Given the description of an element on the screen output the (x, y) to click on. 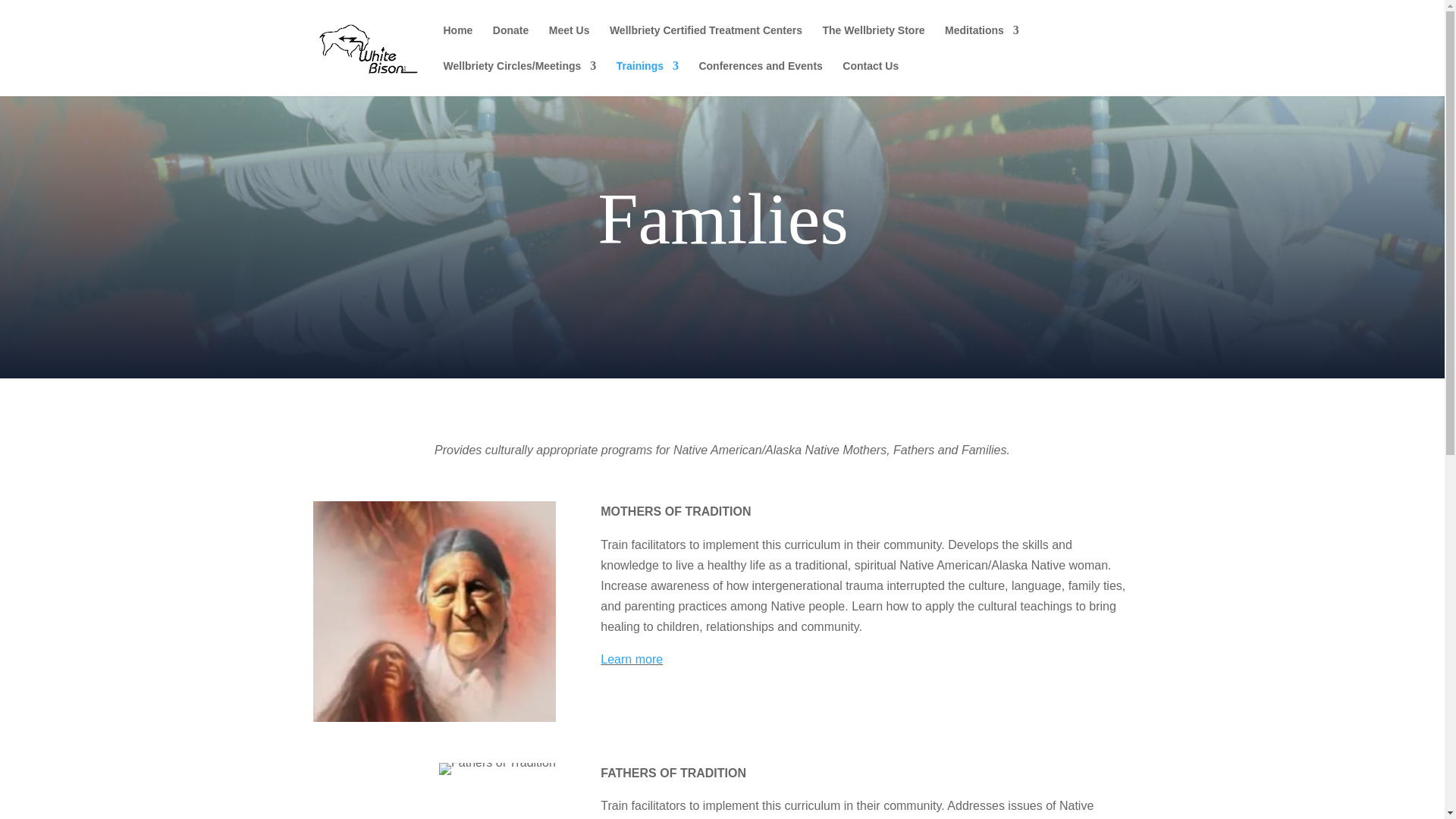
Donate (510, 42)
Meditations (981, 42)
MOT Logo (433, 611)
Contact Us (870, 78)
Conferences and Events (760, 78)
Trainings (646, 78)
The Wellbriety Store (873, 42)
Fathers of Tradition Logo-No Background (497, 768)
Wellbriety Certified Treatment Centers (706, 42)
Meet Us (568, 42)
